Given the description of an element on the screen output the (x, y) to click on. 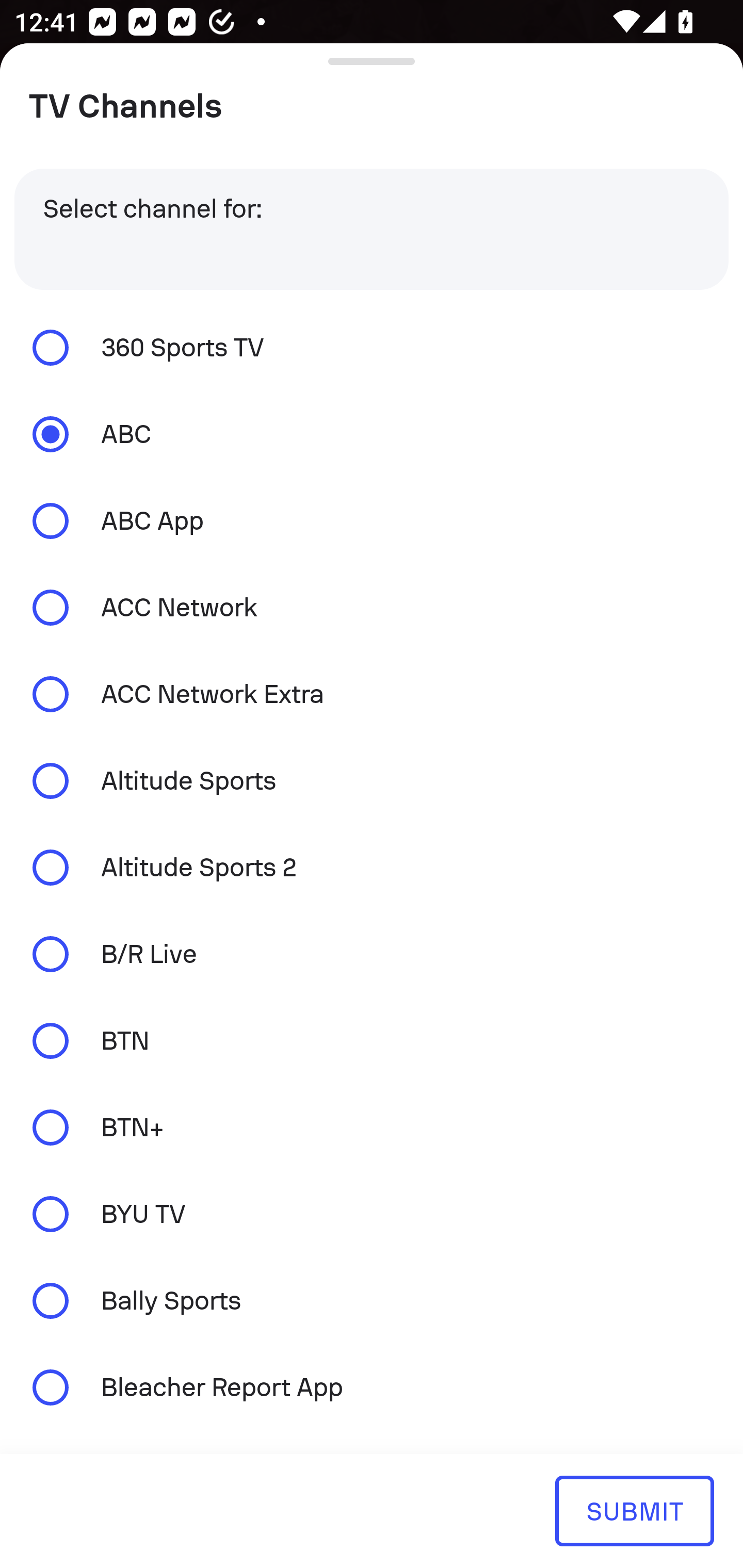
360 Sports TV (371, 347)
ABC (371, 434)
ABC App (371, 521)
ACC Network (371, 607)
ACC Network Extra (371, 693)
Altitude Sports (371, 780)
Altitude Sports 2 (371, 867)
B/R Live (371, 954)
BTN (371, 1040)
BTN+ (371, 1127)
BYU TV (371, 1214)
Bally Sports (371, 1300)
Bleacher Report App (371, 1386)
SUBMIT (634, 1510)
